Given the description of an element on the screen output the (x, y) to click on. 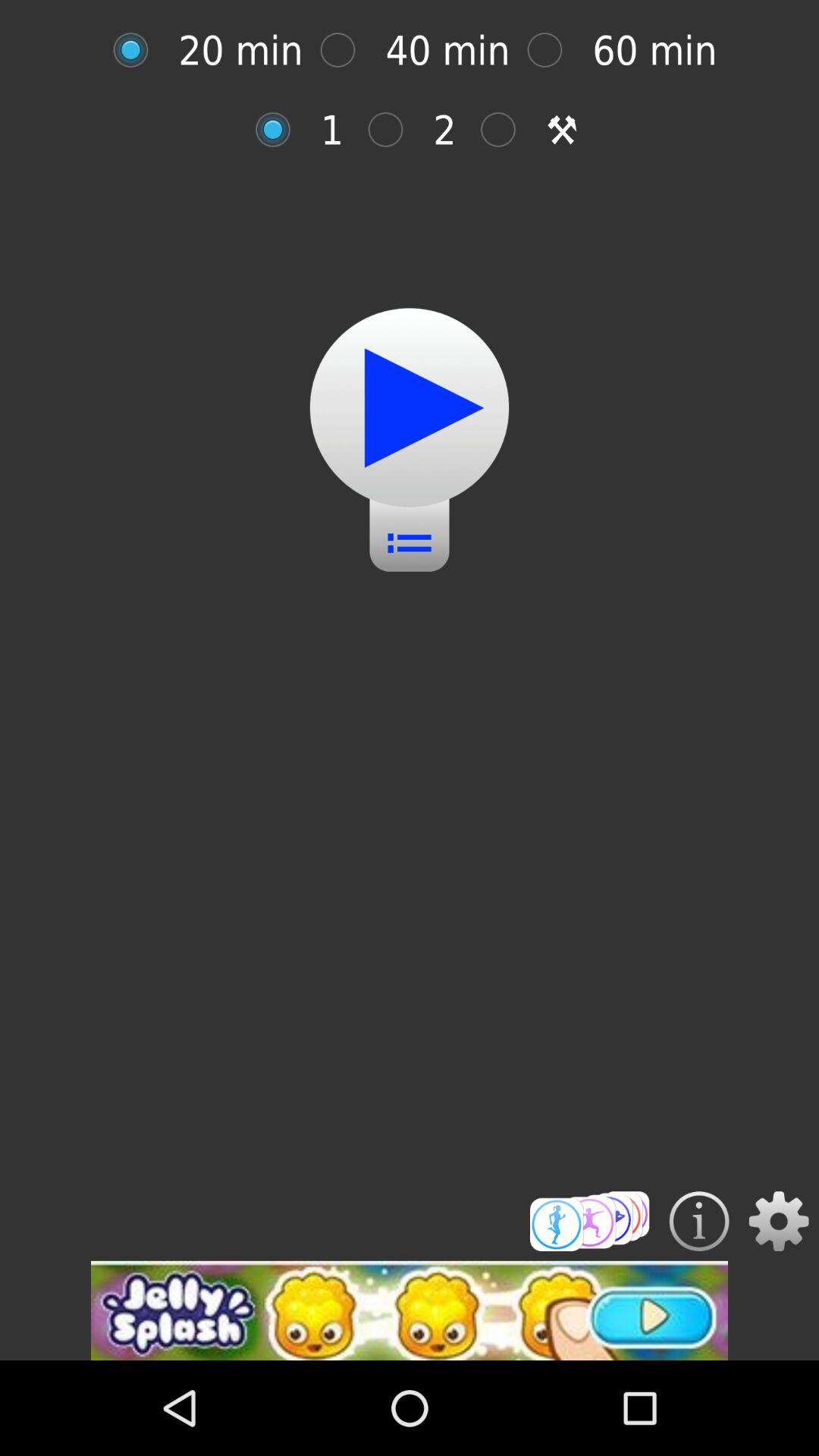
playing the music (409, 407)
